Given the description of an element on the screen output the (x, y) to click on. 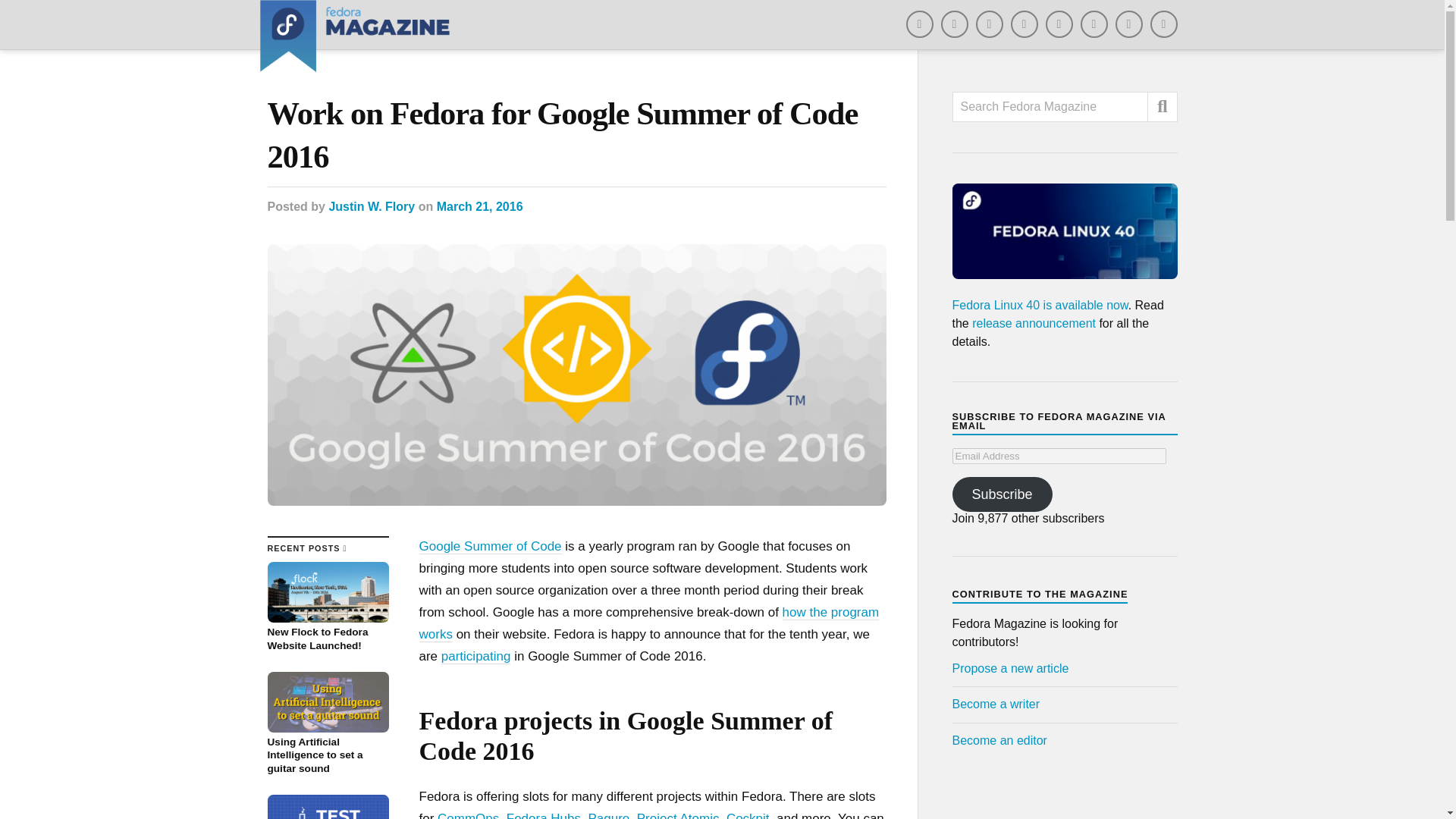
CommOps (468, 815)
Posts by Justin W. Flory (371, 205)
Google Summer of Code (489, 546)
Project Atomic (678, 815)
how the program works (649, 623)
Cockpit (748, 815)
Justin W. Flory (371, 205)
March 21, 2016 (479, 205)
Pagure (608, 815)
Contribute at the Kernel 6.10, and Podman 5.2 Test Days (327, 806)
Using Artificial Intelligence to set a guitar sound (327, 723)
Fedora Hubs (543, 815)
participating (476, 656)
New Flock to Fedora Website Launched! (327, 606)
